Given the description of an element on the screen output the (x, y) to click on. 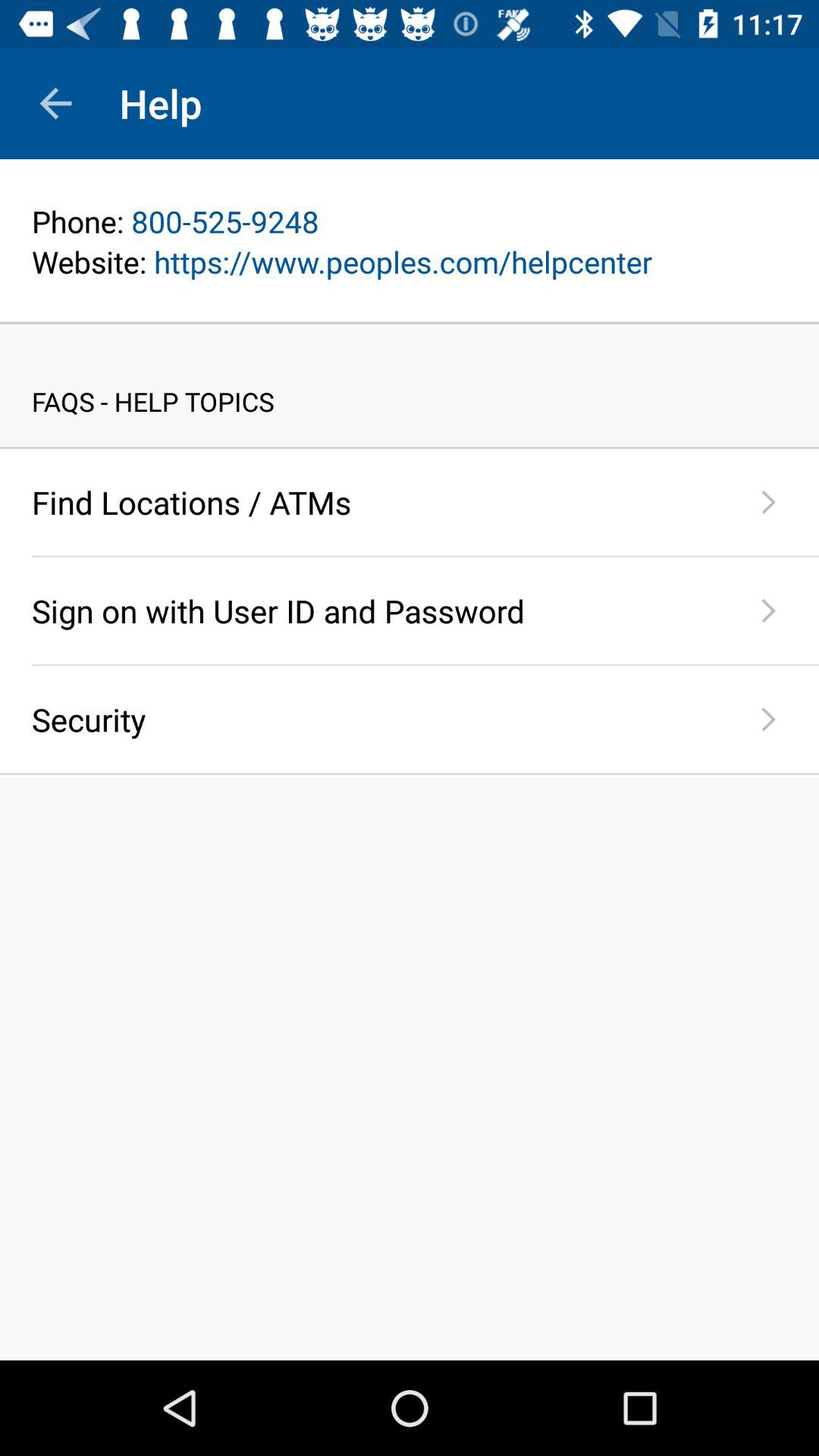
tap the icon next to the help item (55, 103)
